Given the description of an element on the screen output the (x, y) to click on. 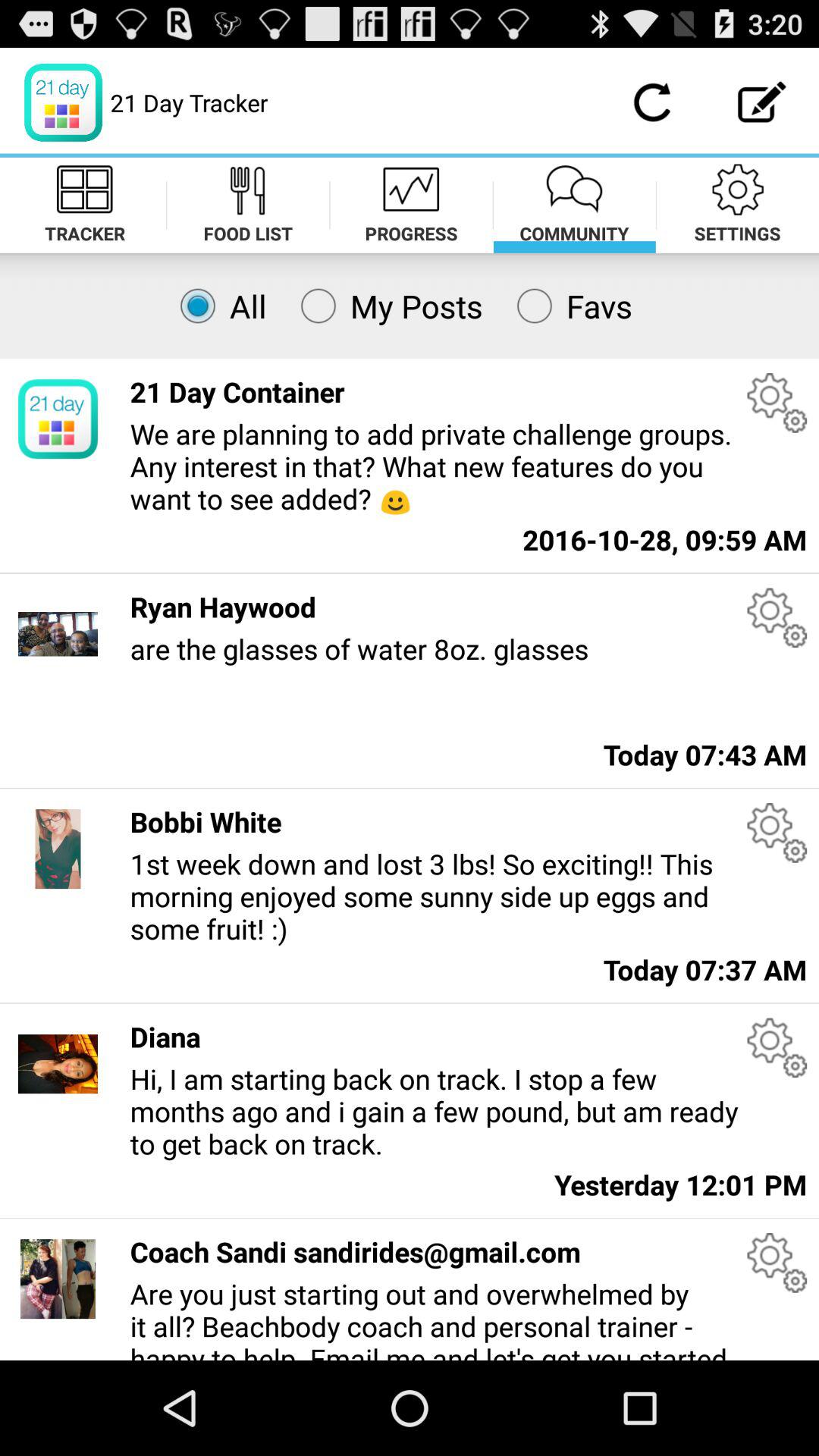
write a new message (763, 102)
